Given the description of an element on the screen output the (x, y) to click on. 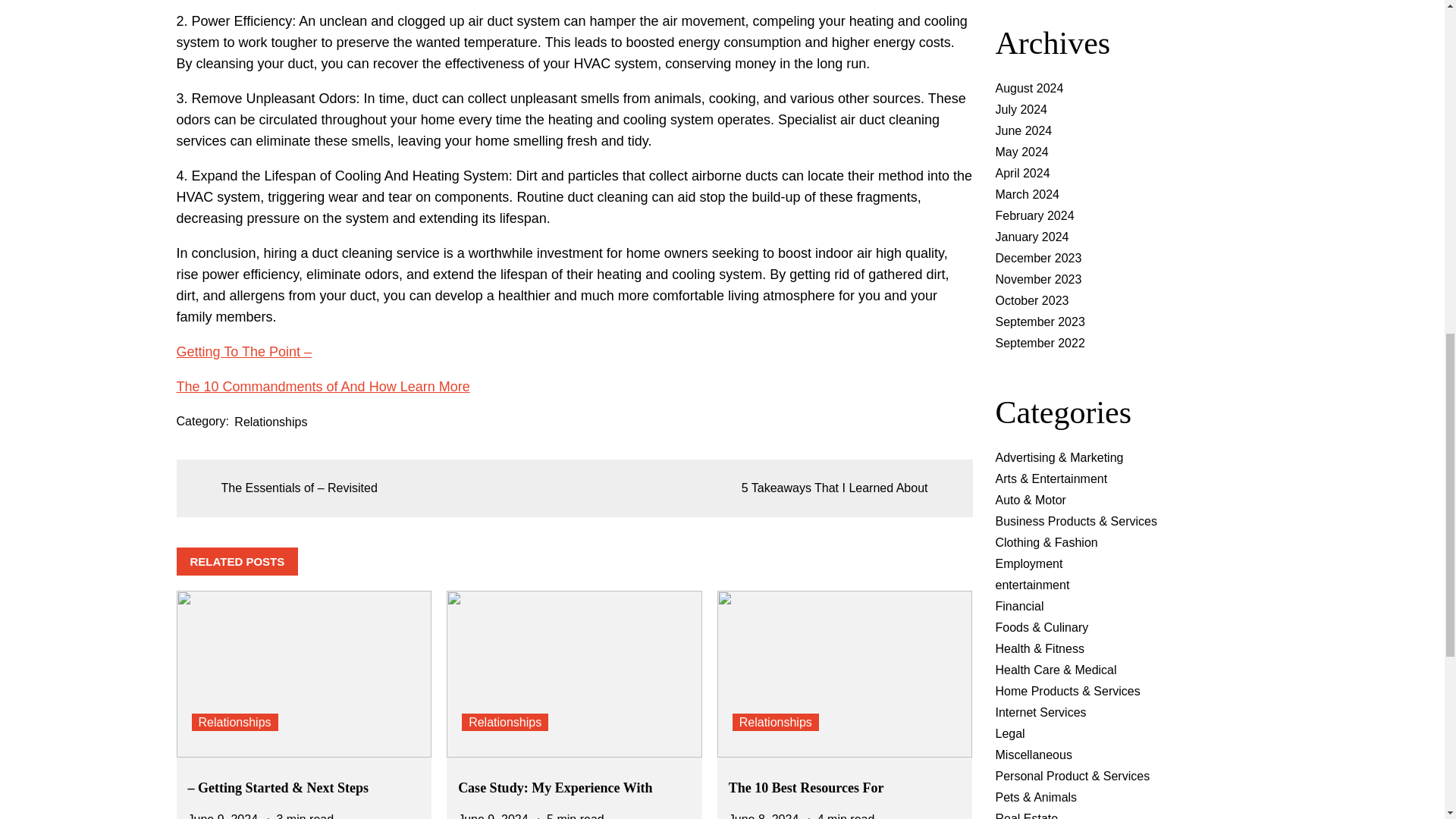
August 2024 (1028, 88)
June 9, 2024 (223, 816)
July 2024 (1020, 109)
June 8, 2024 (764, 816)
March 2024 (1026, 194)
Relationships (504, 722)
January 2024 (1031, 236)
June 9, 2024 (493, 816)
Relationships (775, 722)
Relationships (234, 722)
